Given the description of an element on the screen output the (x, y) to click on. 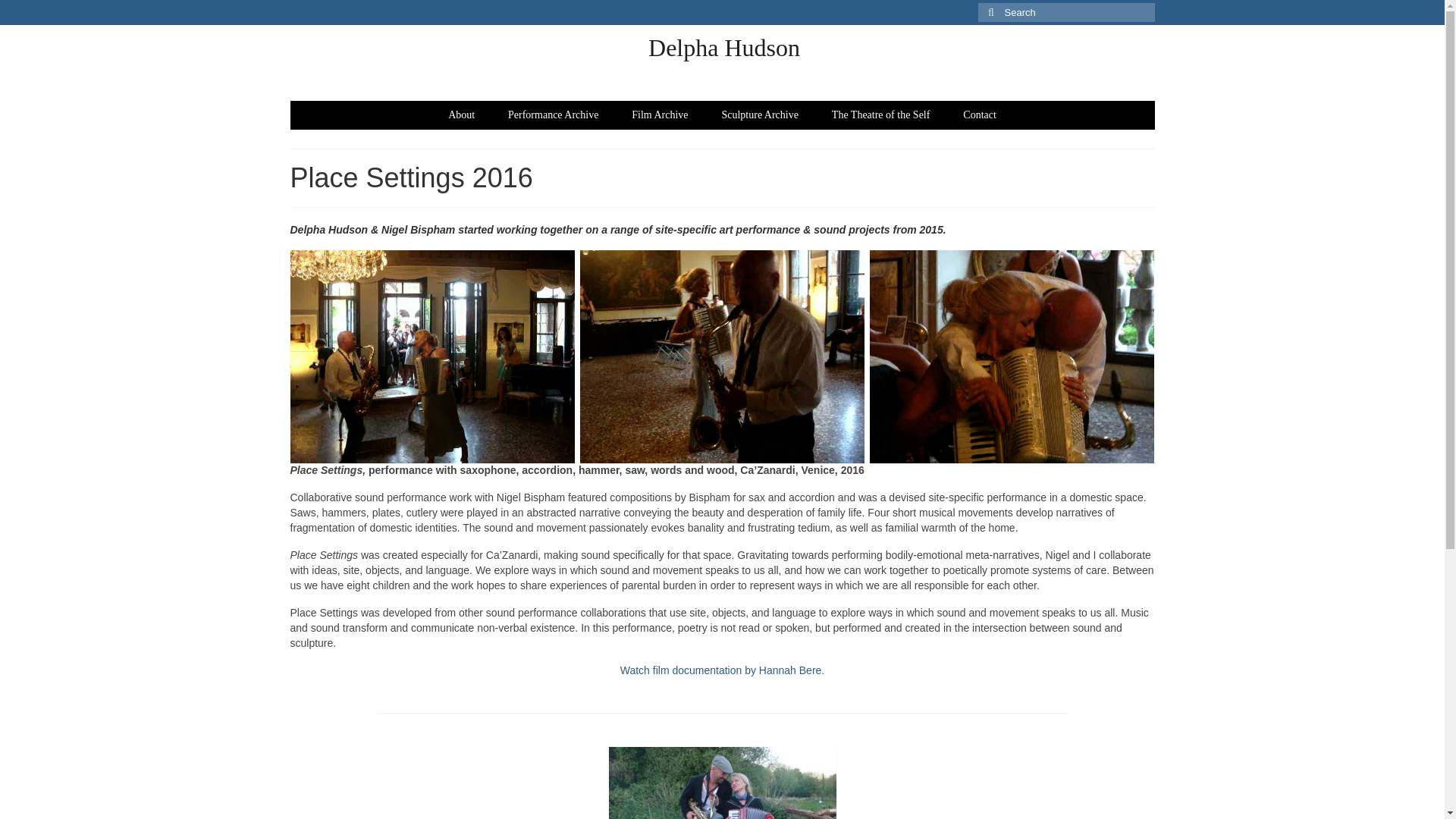
About (460, 114)
Delpha Hudson (723, 47)
Sculpture Archive (759, 114)
Performance Archive (552, 114)
Film Archive (659, 114)
